Given the description of an element on the screen output the (x, y) to click on. 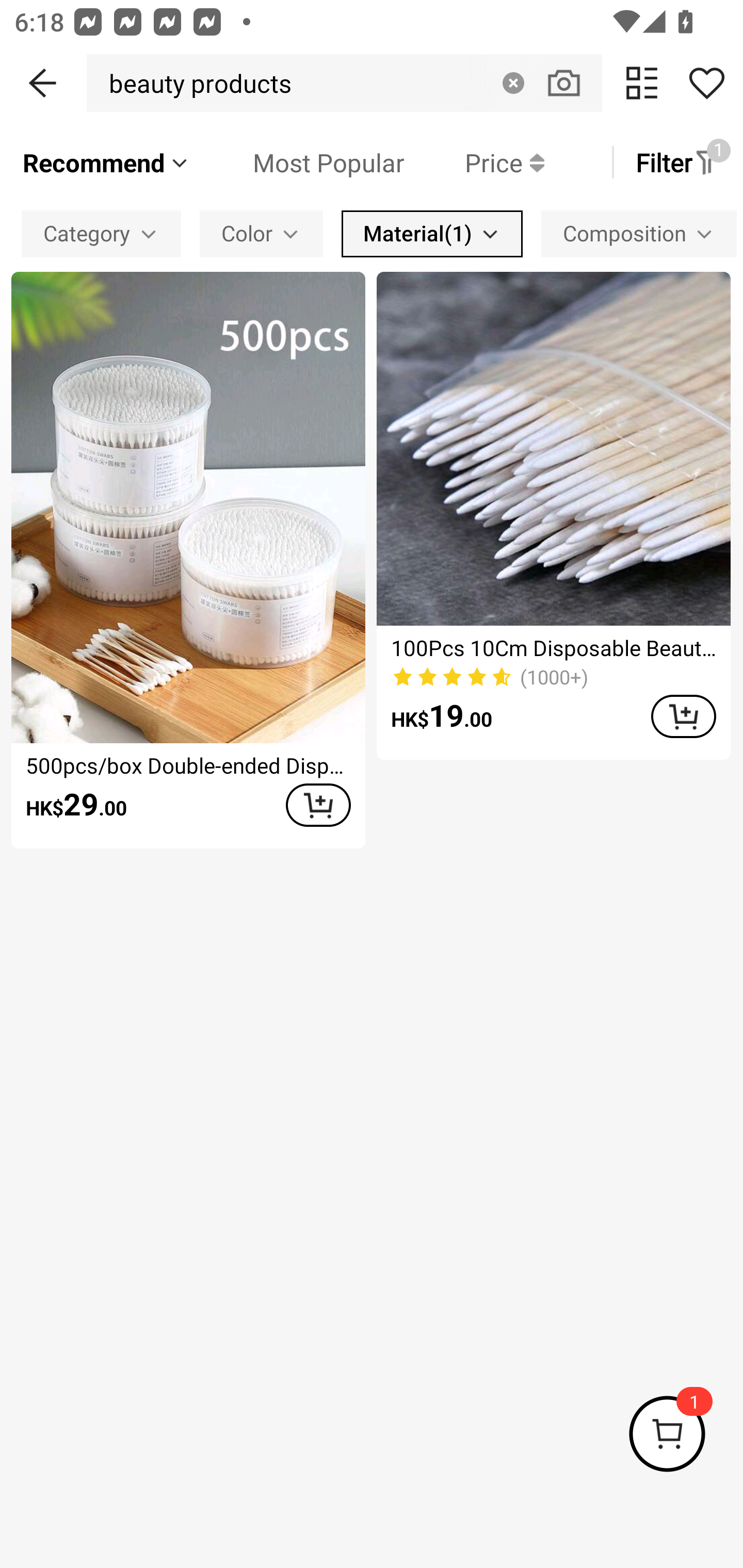
beauty products Clear (343, 82)
beauty products (193, 82)
Clear (513, 82)
change view (641, 82)
Share (706, 82)
Recommend (106, 162)
Most Popular (297, 162)
Price (474, 162)
Filter 1 (677, 162)
Category (101, 233)
Color (261, 233)
Material(1) (431, 233)
Composition (638, 233)
ADD TO CART (683, 716)
ADD TO CART (318, 805)
